Given the description of an element on the screen output the (x, y) to click on. 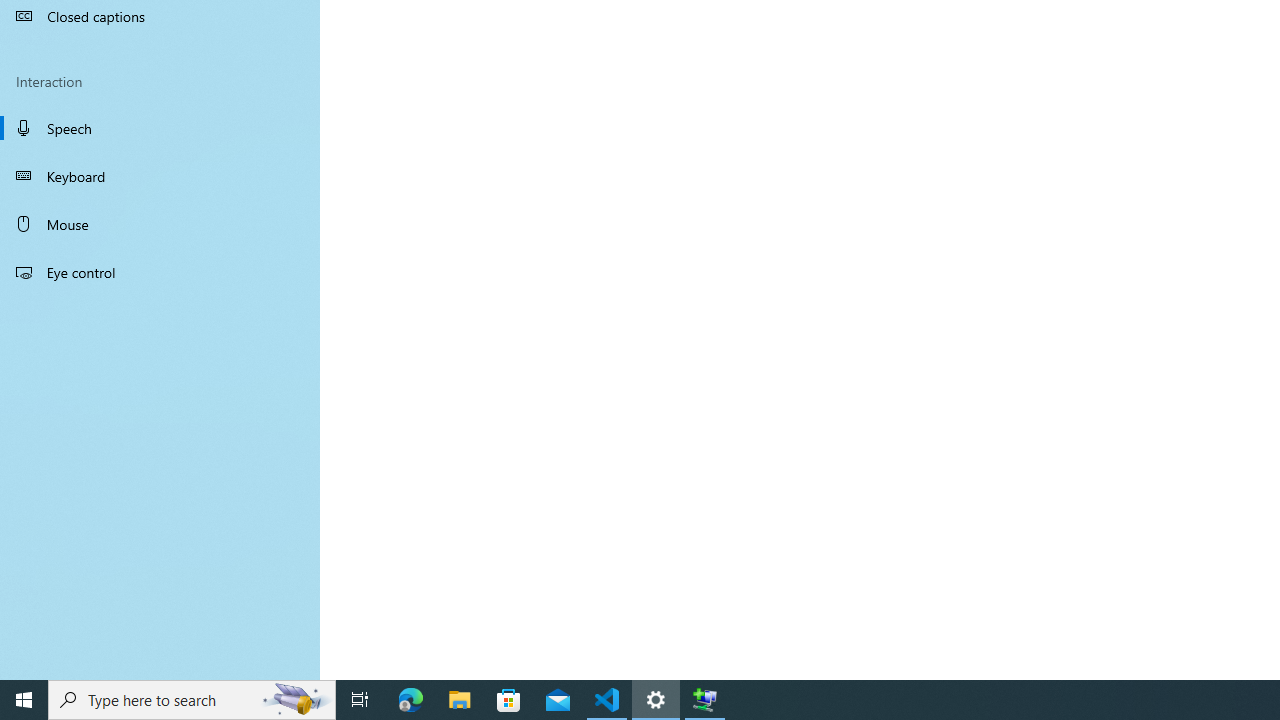
Extensible Wizards Host Process - 1 running window (704, 699)
Speech (160, 127)
Keyboard (160, 175)
Mouse (160, 223)
Eye control (160, 271)
